Given the description of an element on the screen output the (x, y) to click on. 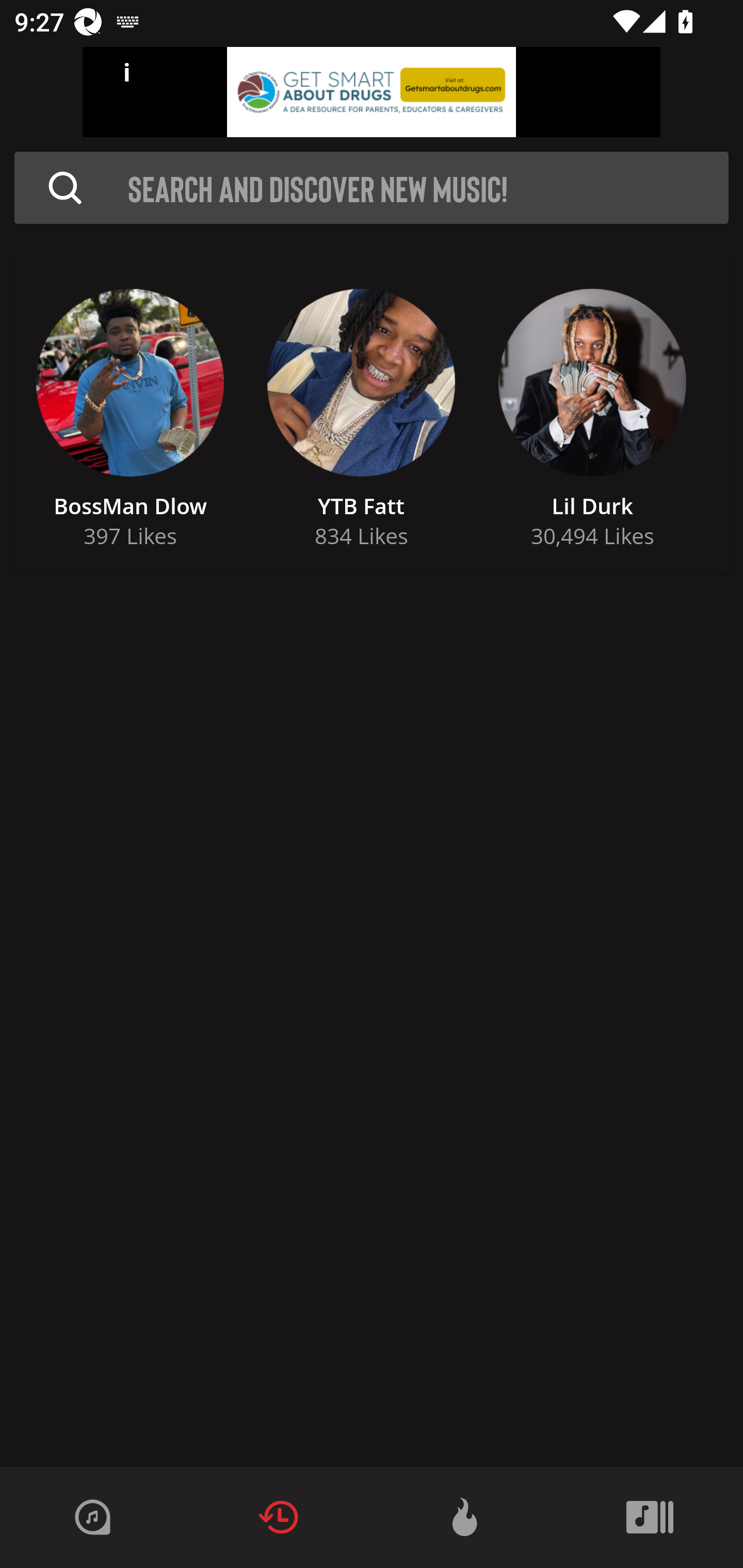
SEARCH AND DISCOVER NEW MUSIC! (427, 188)
Description (64, 188)
Description BossMan Dlow 397 Likes (129, 413)
Description YTB Fatt 834 Likes (360, 413)
Description Lil Durk 30,494 Likes (591, 413)
